Given the description of an element on the screen output the (x, y) to click on. 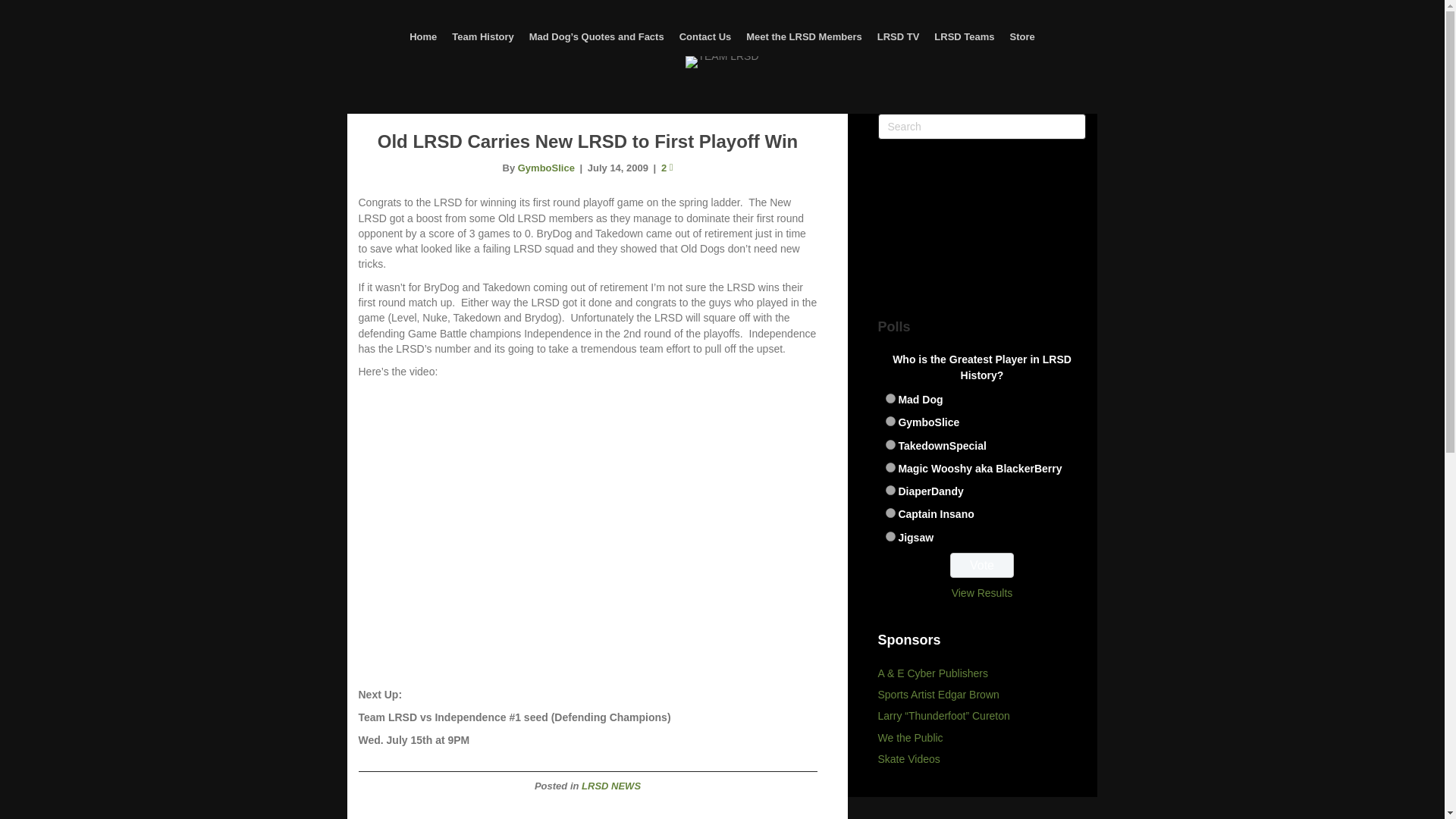
LRSD TV (898, 37)
We the Public (910, 737)
TEAM LRSD (721, 61)
Team History (482, 37)
7 (890, 420)
12 (890, 536)
Sports Artist Edgar Brown (937, 694)
Type and press Enter to search. (981, 126)
Meet the LRSD Members (803, 37)
11 (890, 512)
Skate Videos (908, 758)
Store (1022, 37)
GymboSlice (546, 167)
   Vote    (982, 565)
10 (890, 490)
